Given the description of an element on the screen output the (x, y) to click on. 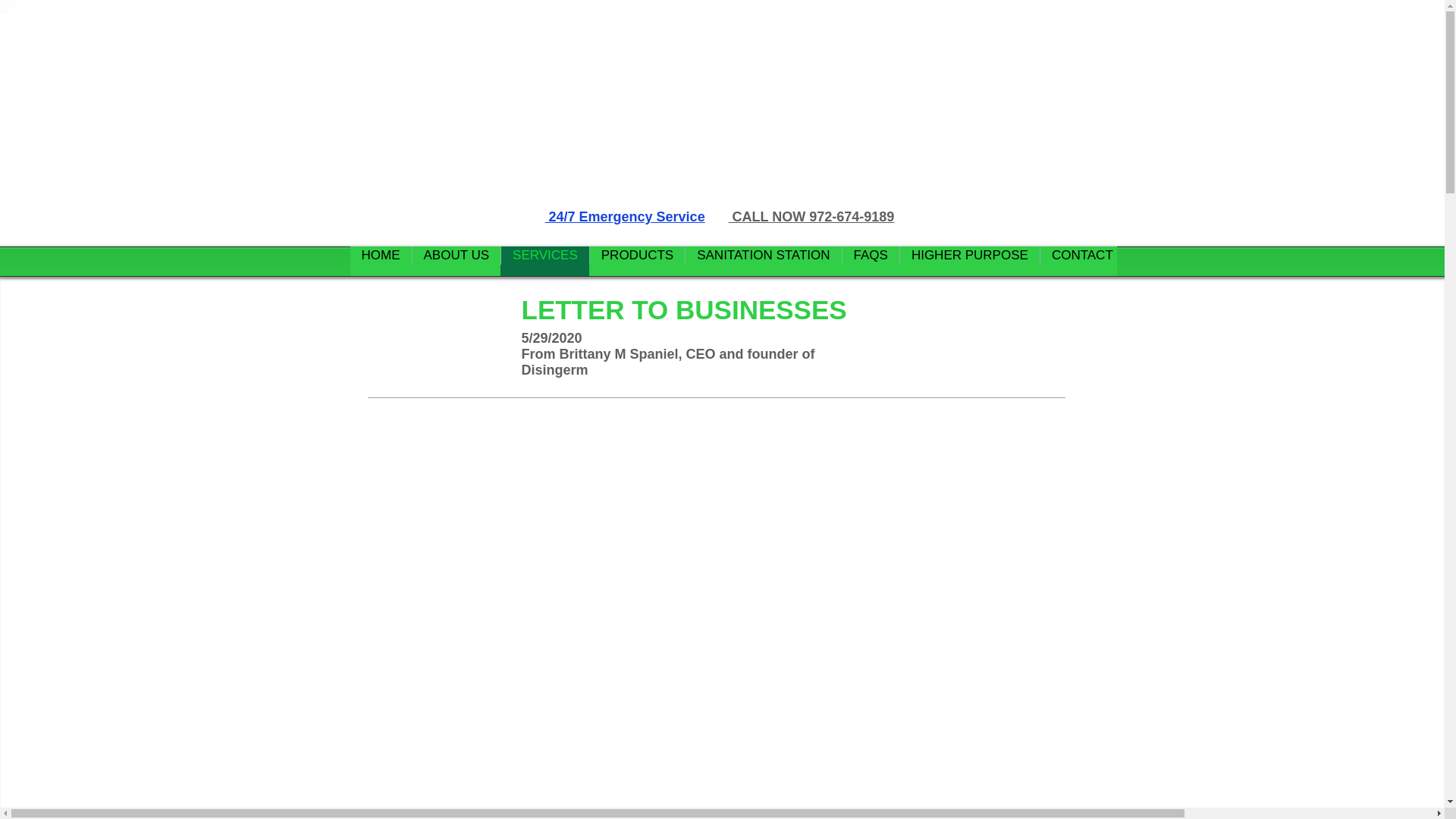
ABOUT US (455, 261)
HOME (381, 261)
SERVICES (544, 261)
 CALL NOW 972-674-9189 (810, 216)
